Given the description of an element on the screen output the (x, y) to click on. 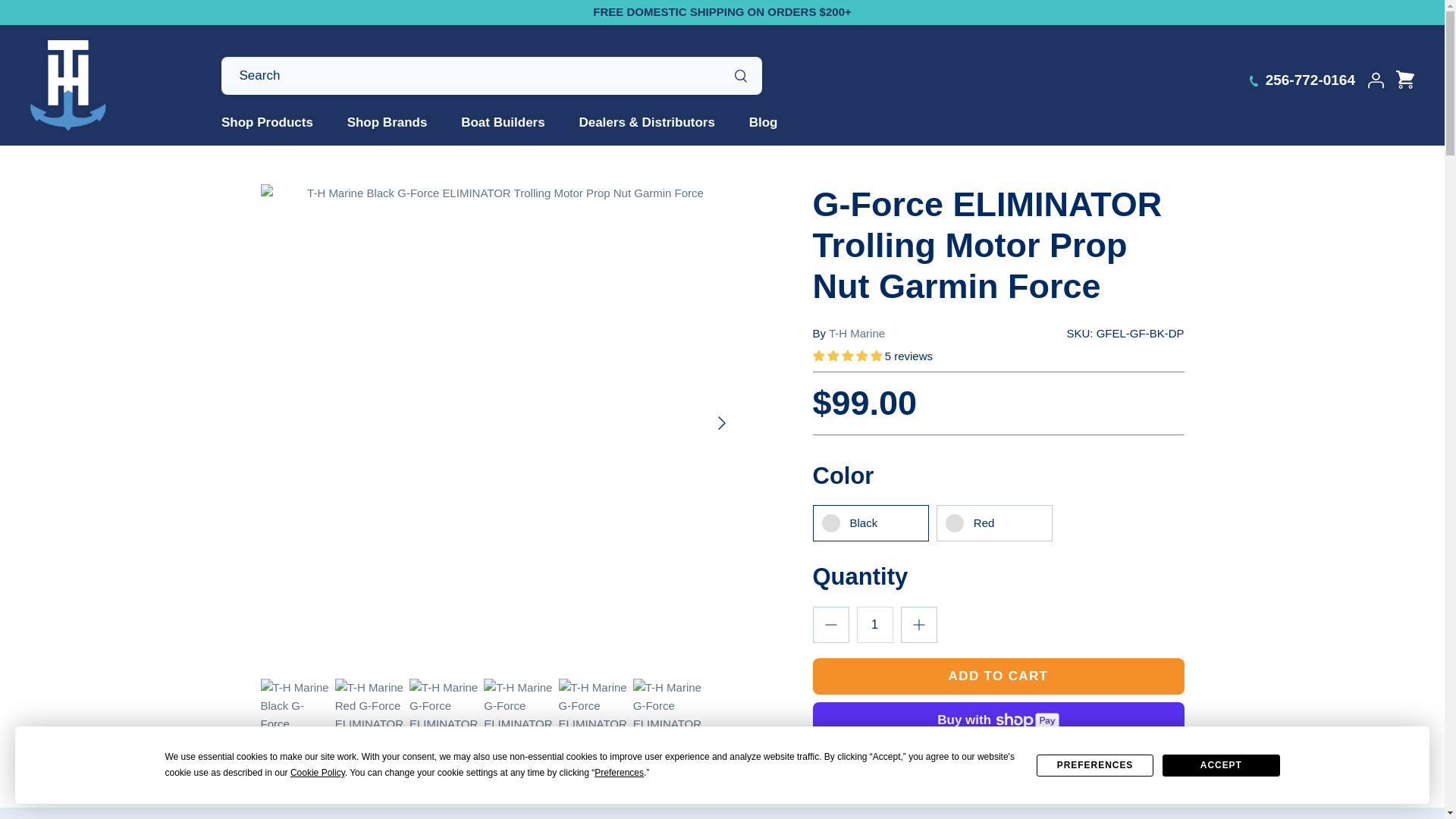
Plus (919, 624)
Shop Products (275, 122)
PREFERENCES (1094, 764)
Minus (831, 624)
256-772-0164 (1308, 79)
1 (875, 624)
RIGHT (721, 422)
ACCEPT (1220, 764)
